Given the description of an element on the screen output the (x, y) to click on. 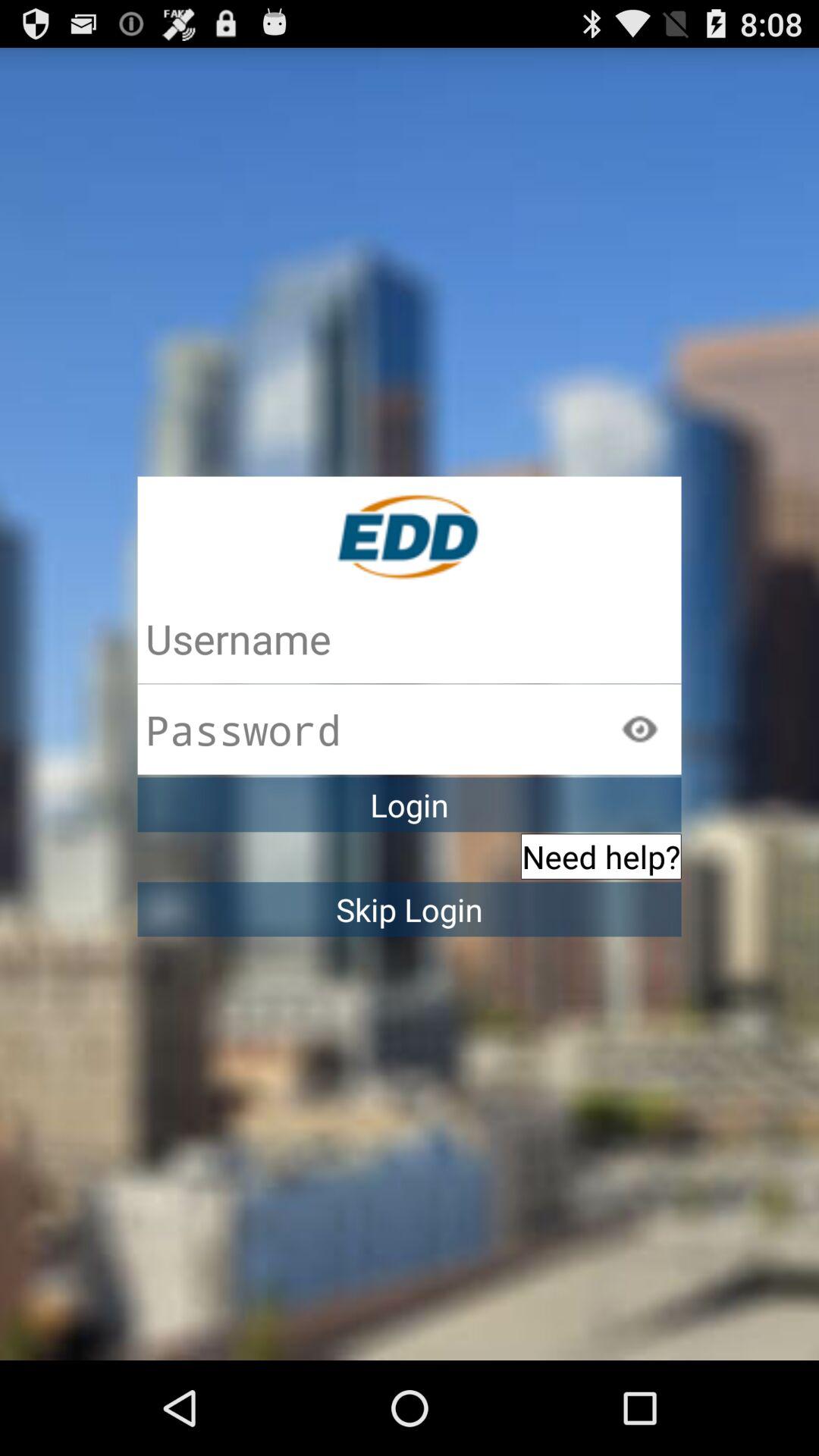
flip until the skip login (409, 909)
